Given the description of an element on the screen output the (x, y) to click on. 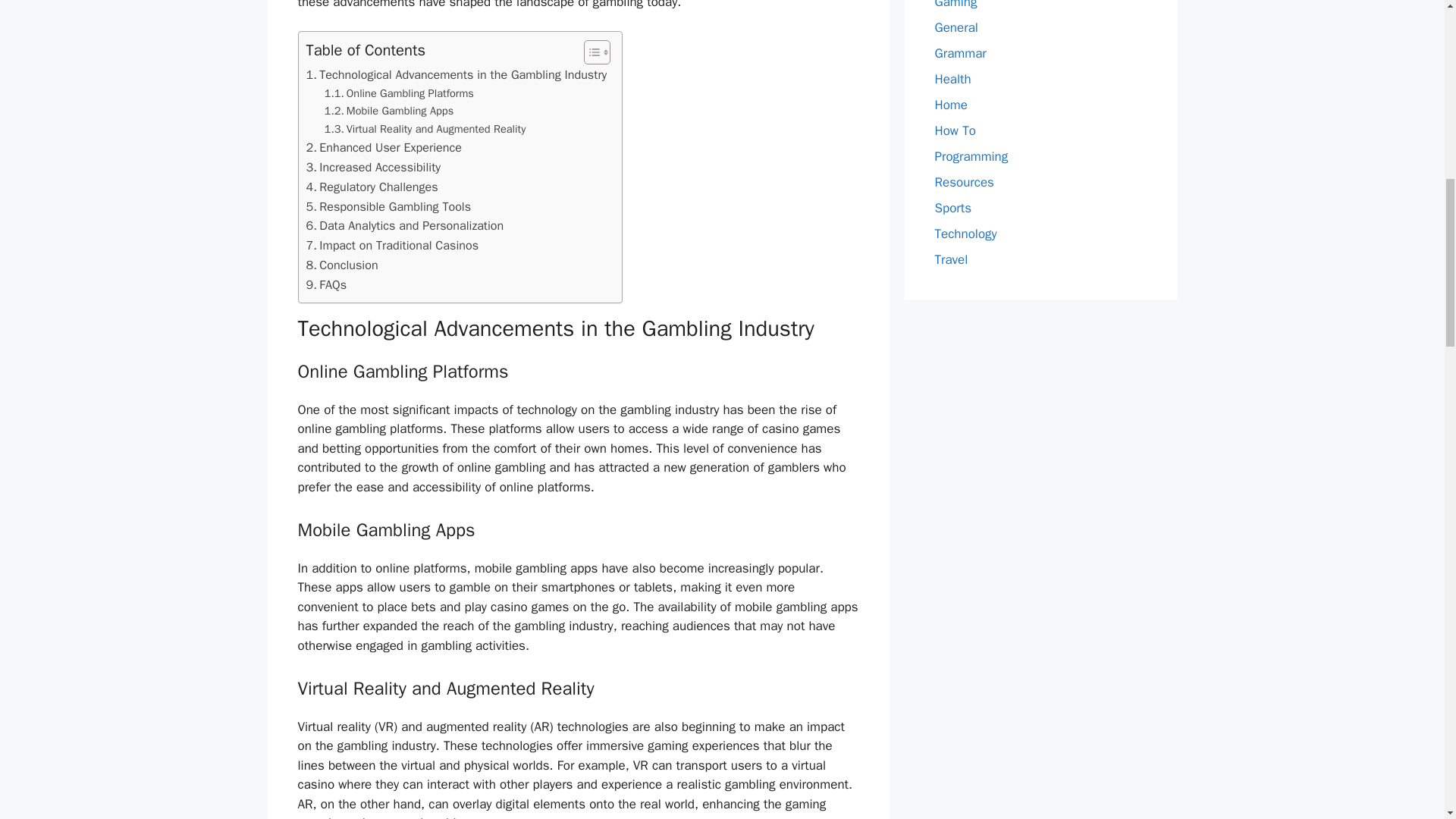
Conclusion (341, 265)
Enhanced User Experience (383, 148)
Virtual Reality and Augmented Reality (424, 129)
Impact on Traditional Casinos (392, 245)
Regulatory Challenges (371, 187)
Online Gambling Platforms (399, 93)
Increased Accessibility (373, 167)
Responsible Gambling Tools (388, 207)
Technological Advancements in the Gambling Industry (456, 75)
Mobile Gambling Apps (389, 110)
Technological Advancements in the Gambling Industry (456, 75)
Data Analytics and Personalization (404, 225)
